Given the description of an element on the screen output the (x, y) to click on. 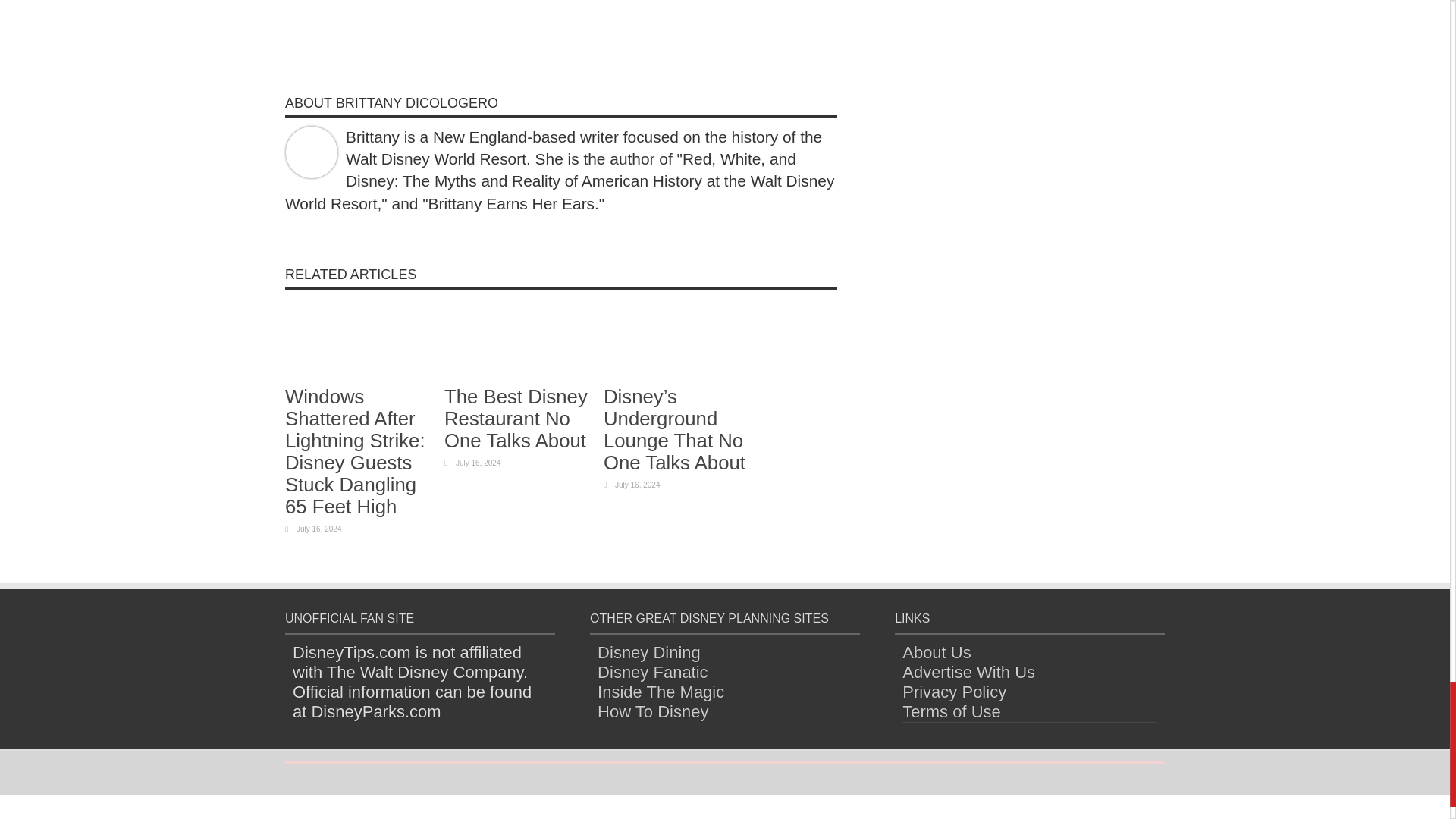
The Best Disney Restaurant No One Talks About (516, 418)
Permalink to The Best Disney Restaurant No One Talks About (516, 418)
Permalink to The Best Disney Restaurant No One Talks About (519, 372)
